Given the description of an element on the screen output the (x, y) to click on. 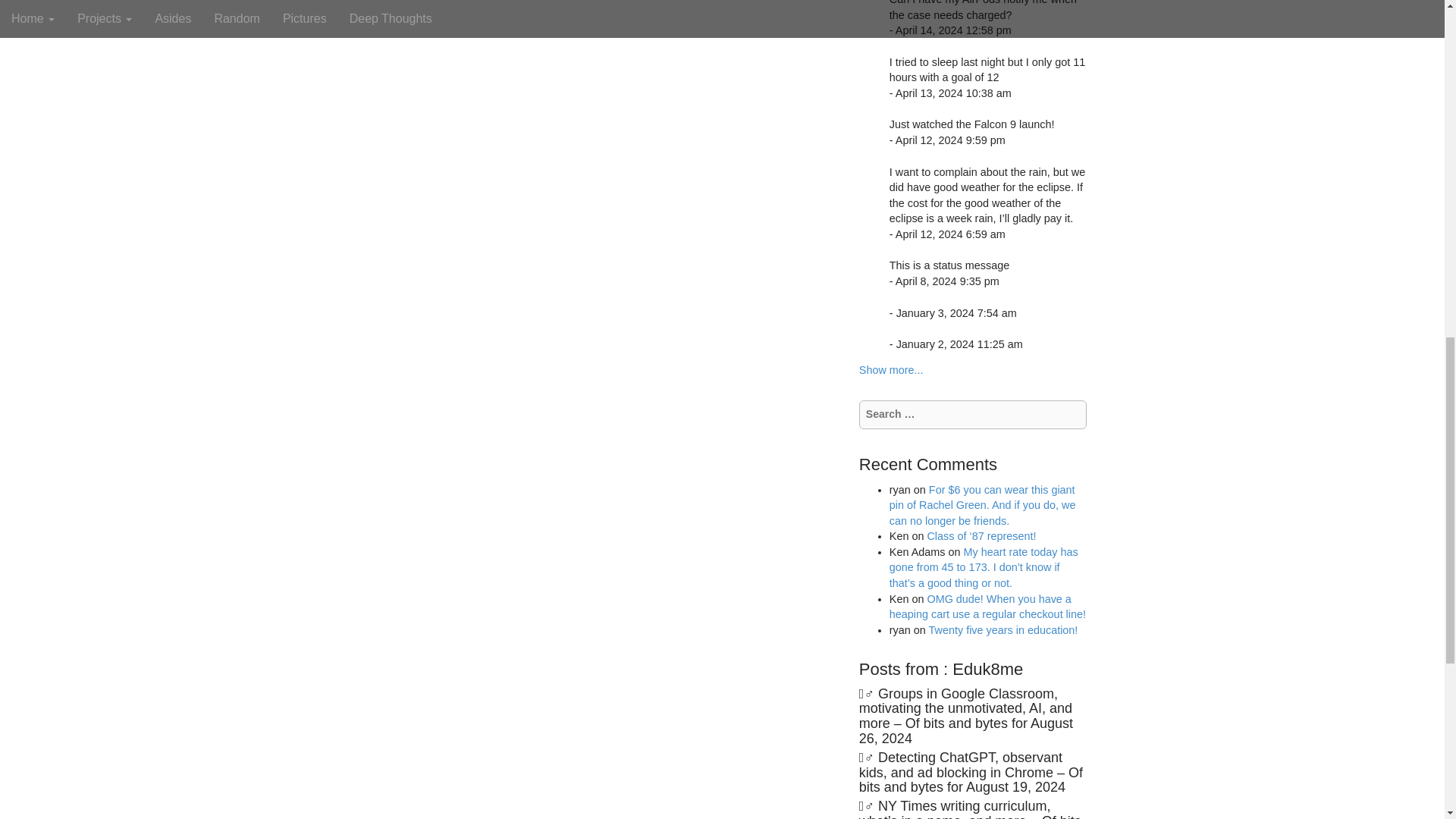
Twenty five years in education! (1003, 630)
Show more... (891, 369)
